Given the description of an element on the screen output the (x, y) to click on. 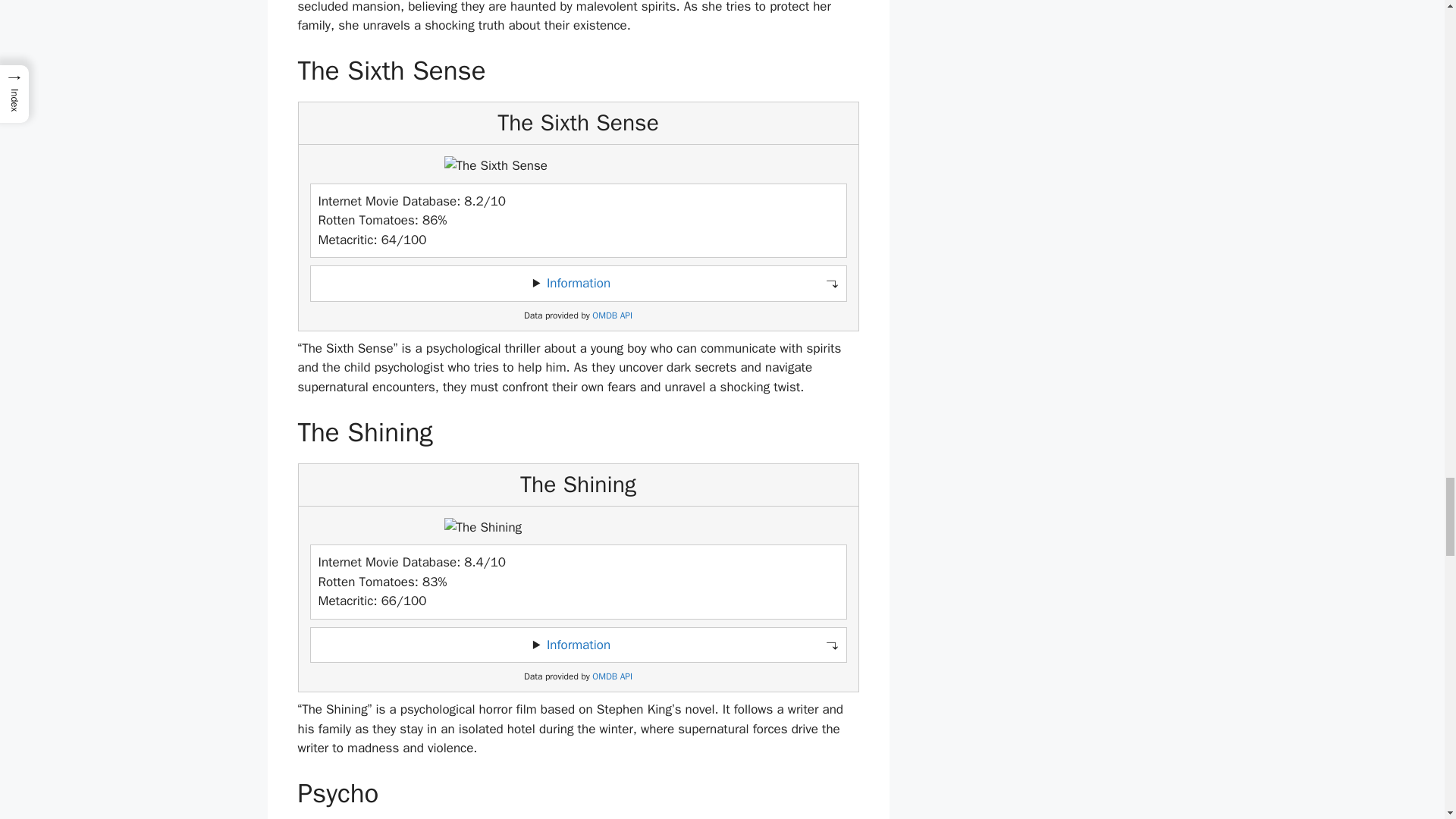
Information (578, 644)
OMDB API (611, 315)
OMDB API (611, 676)
Information (578, 283)
